Given the description of an element on the screen output the (x, y) to click on. 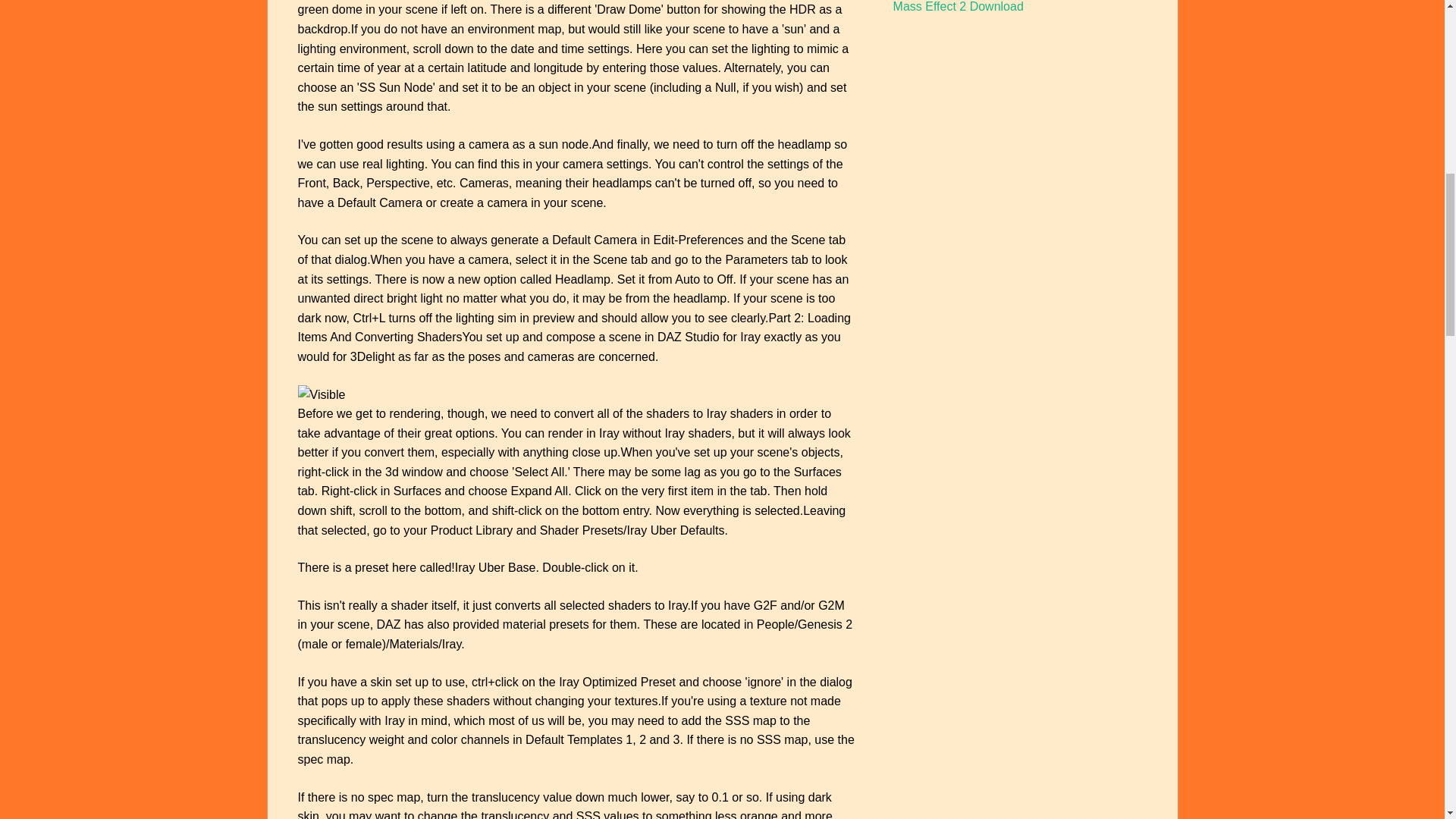
Visible (321, 394)
Mass Effect 2 Download (958, 6)
